Given the description of an element on the screen output the (x, y) to click on. 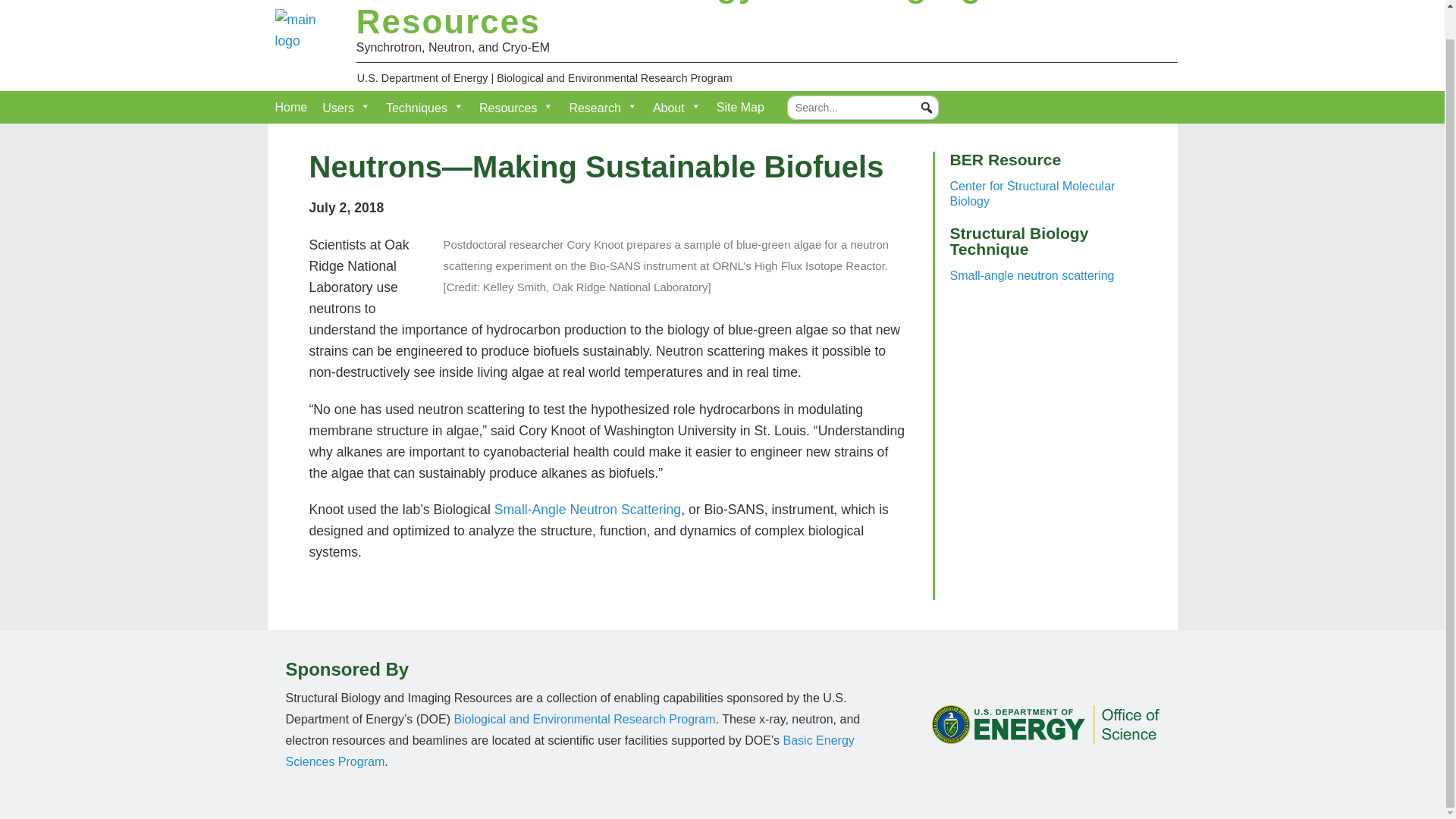
Resources (515, 106)
Techniques (424, 106)
Users (346, 106)
Home (290, 107)
Research (602, 106)
